Given the description of an element on the screen output the (x, y) to click on. 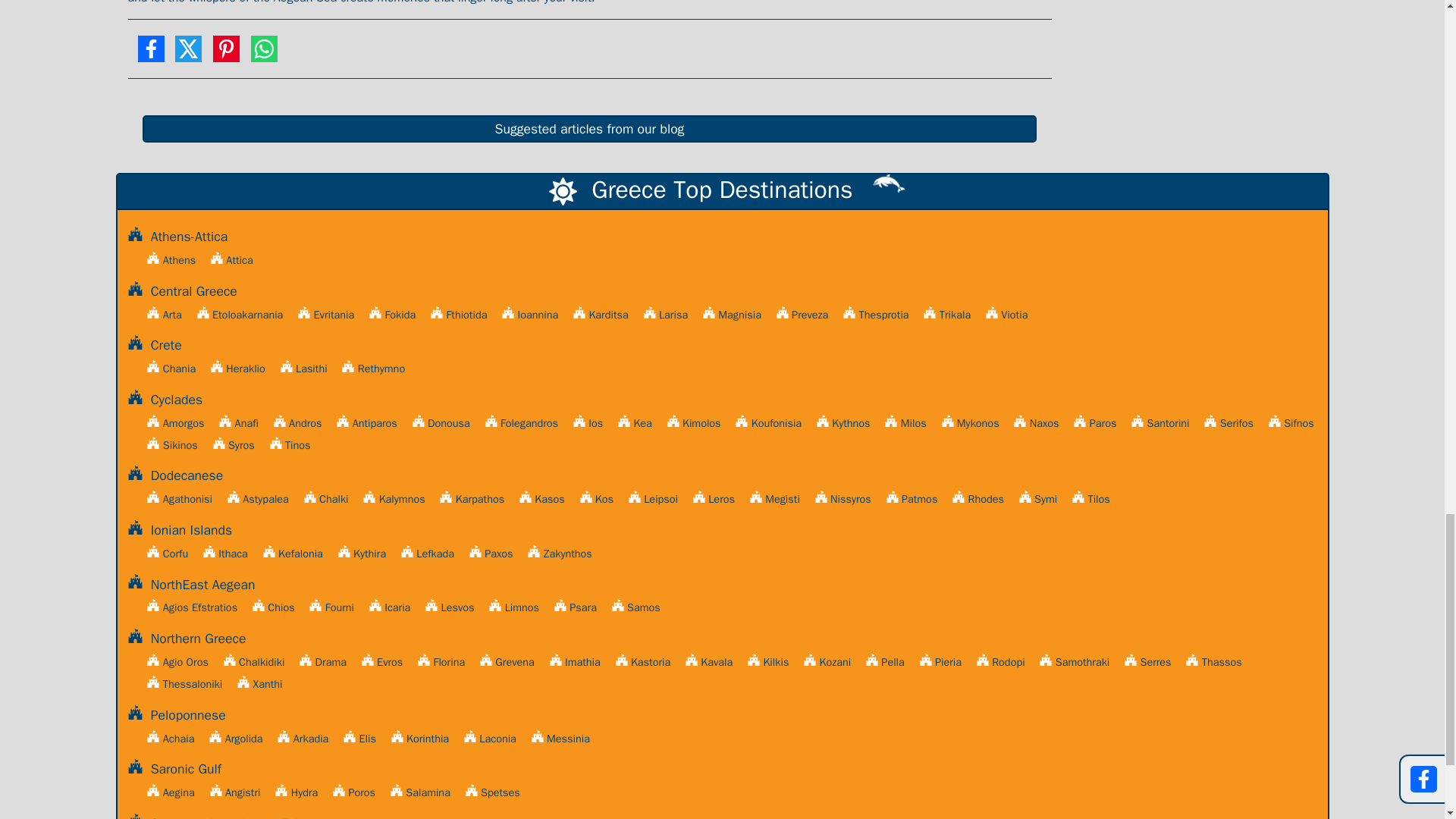
WhatsApp (264, 54)
Facebook (150, 54)
Pinterest (226, 54)
Twitter (188, 54)
